Given the description of an element on the screen output the (x, y) to click on. 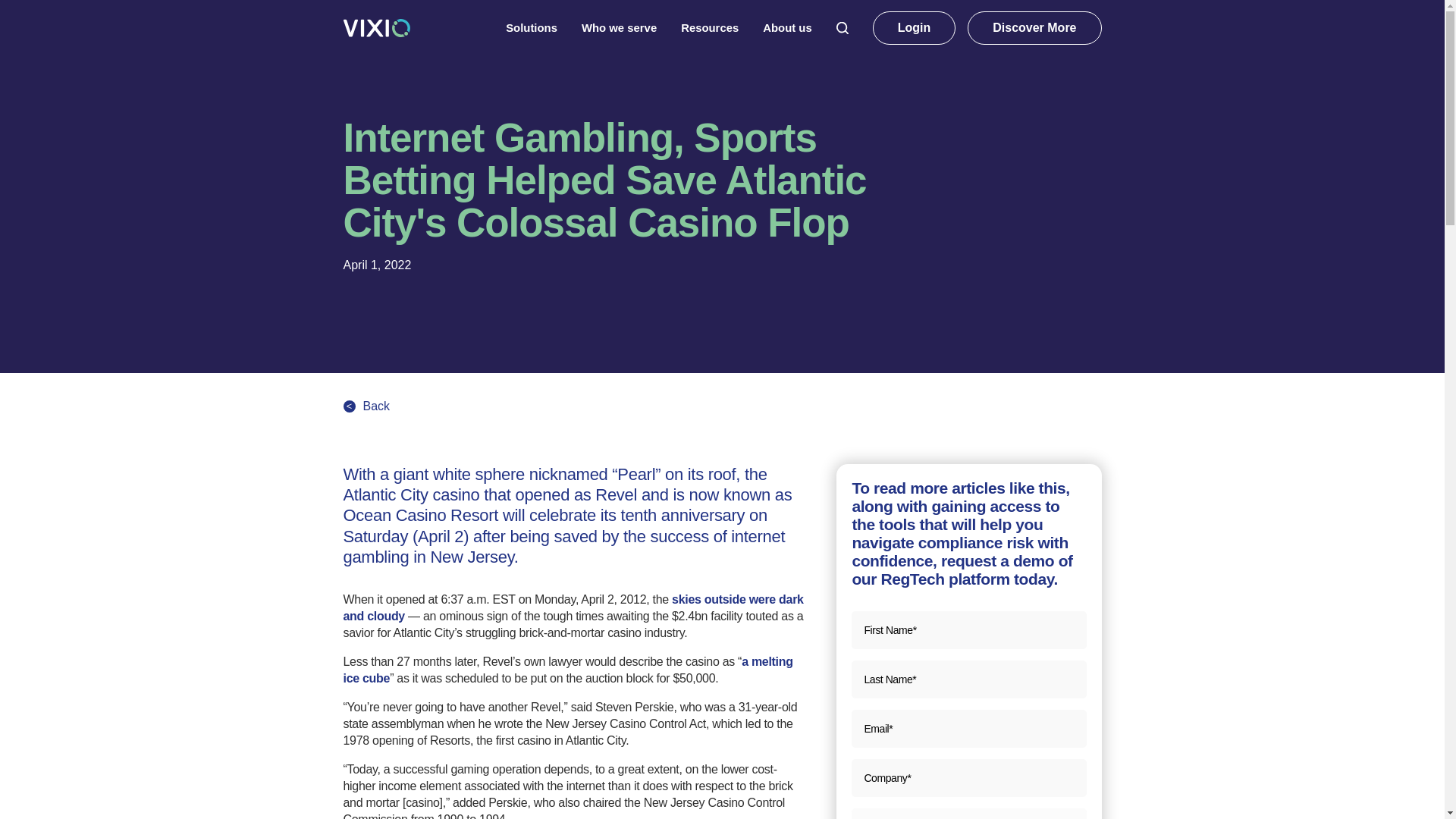
Solutions (531, 27)
a melting ice cube (567, 669)
skies outside were dark and cloudy (572, 607)
Who we serve (618, 27)
Login (914, 28)
About us (787, 27)
Resources (709, 27)
Discover More (1034, 28)
